Given the description of an element on the screen output the (x, y) to click on. 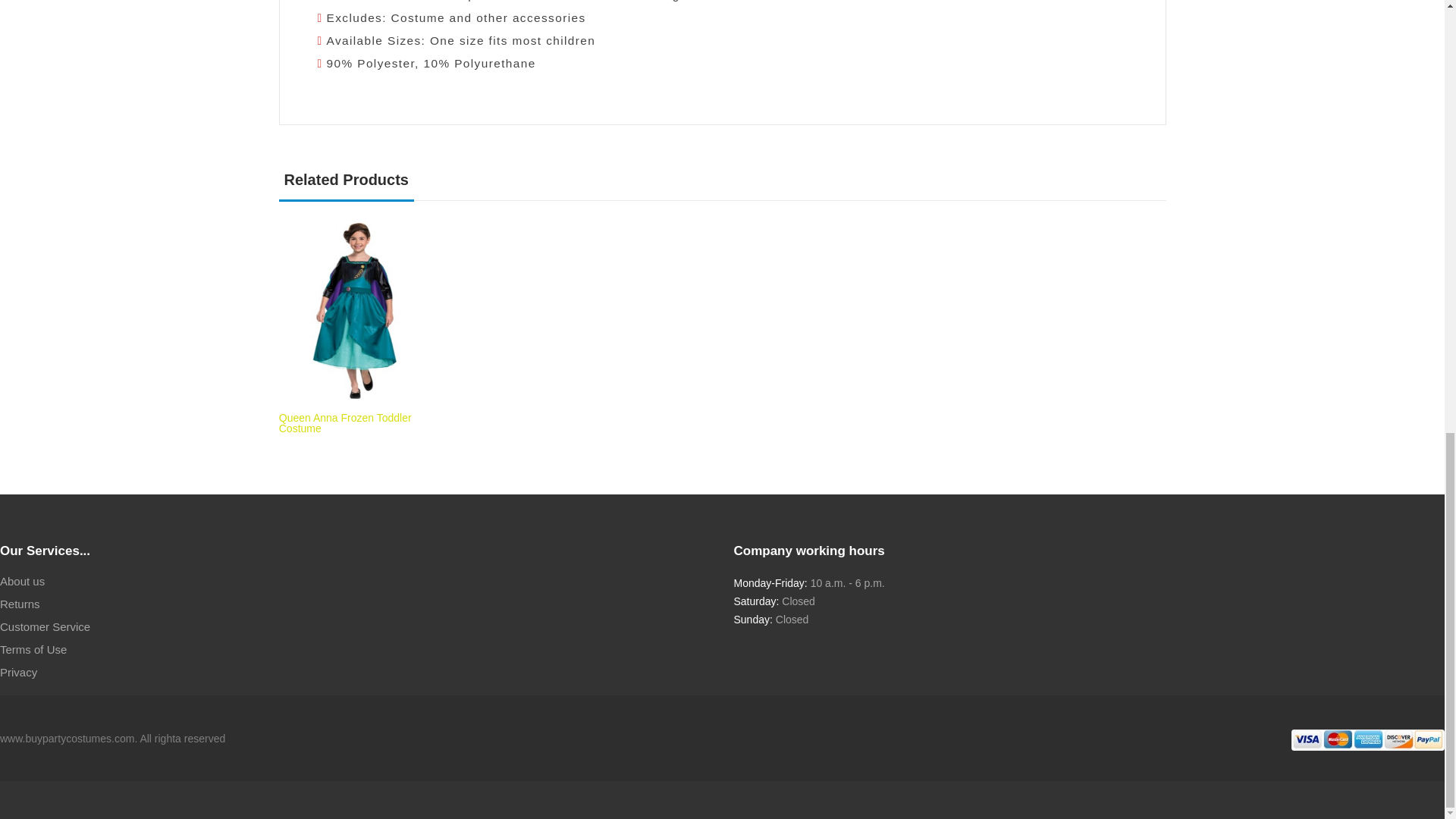
Queen Anna Frozen Toddler Costume (345, 422)
About us (22, 581)
Terms of Use (33, 649)
Related Products (346, 184)
Customer Service (45, 626)
Privacy (18, 671)
Returns (20, 603)
